Given the description of an element on the screen output the (x, y) to click on. 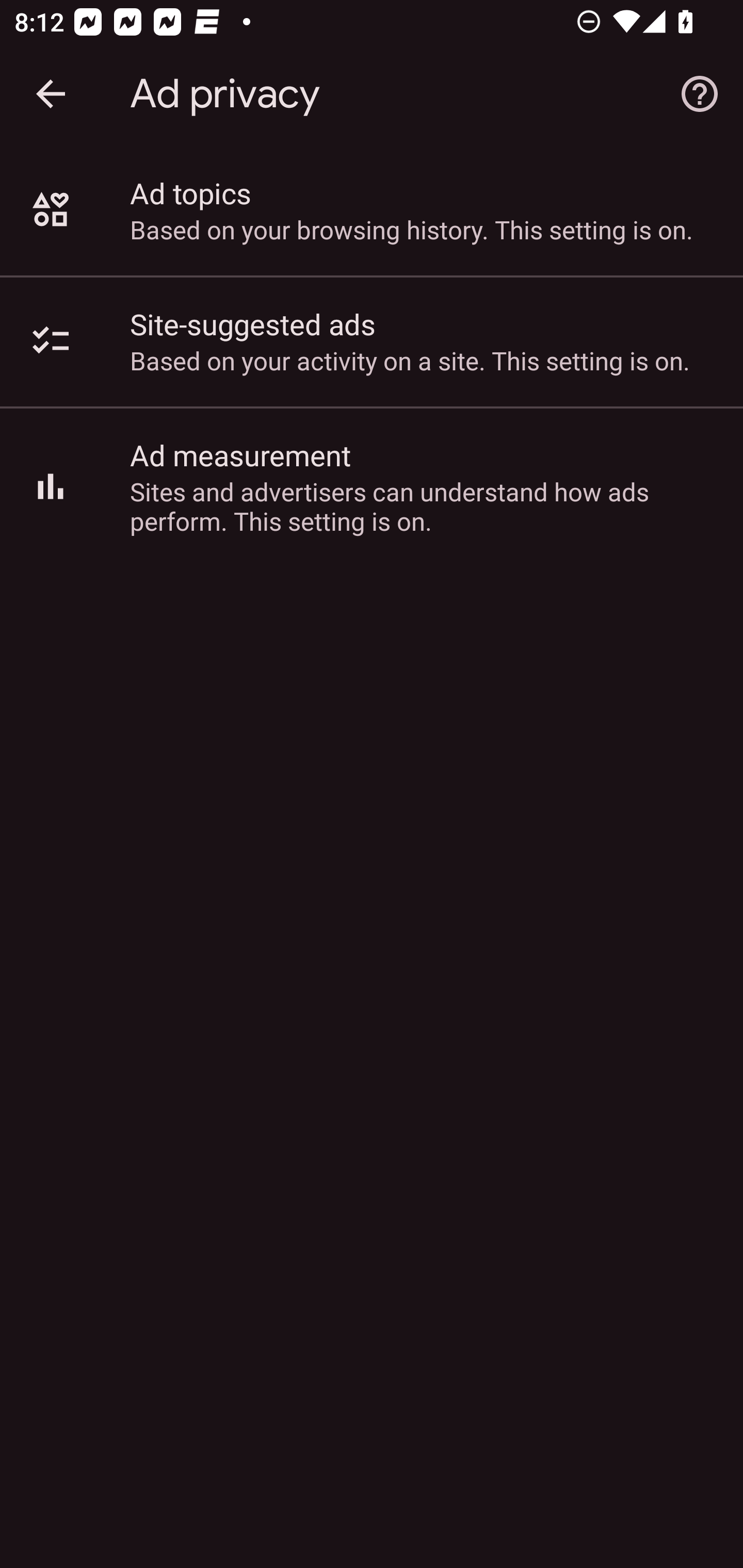
Navigate up (50, 93)
Help & feedback (699, 93)
